Given the description of an element on the screen output the (x, y) to click on. 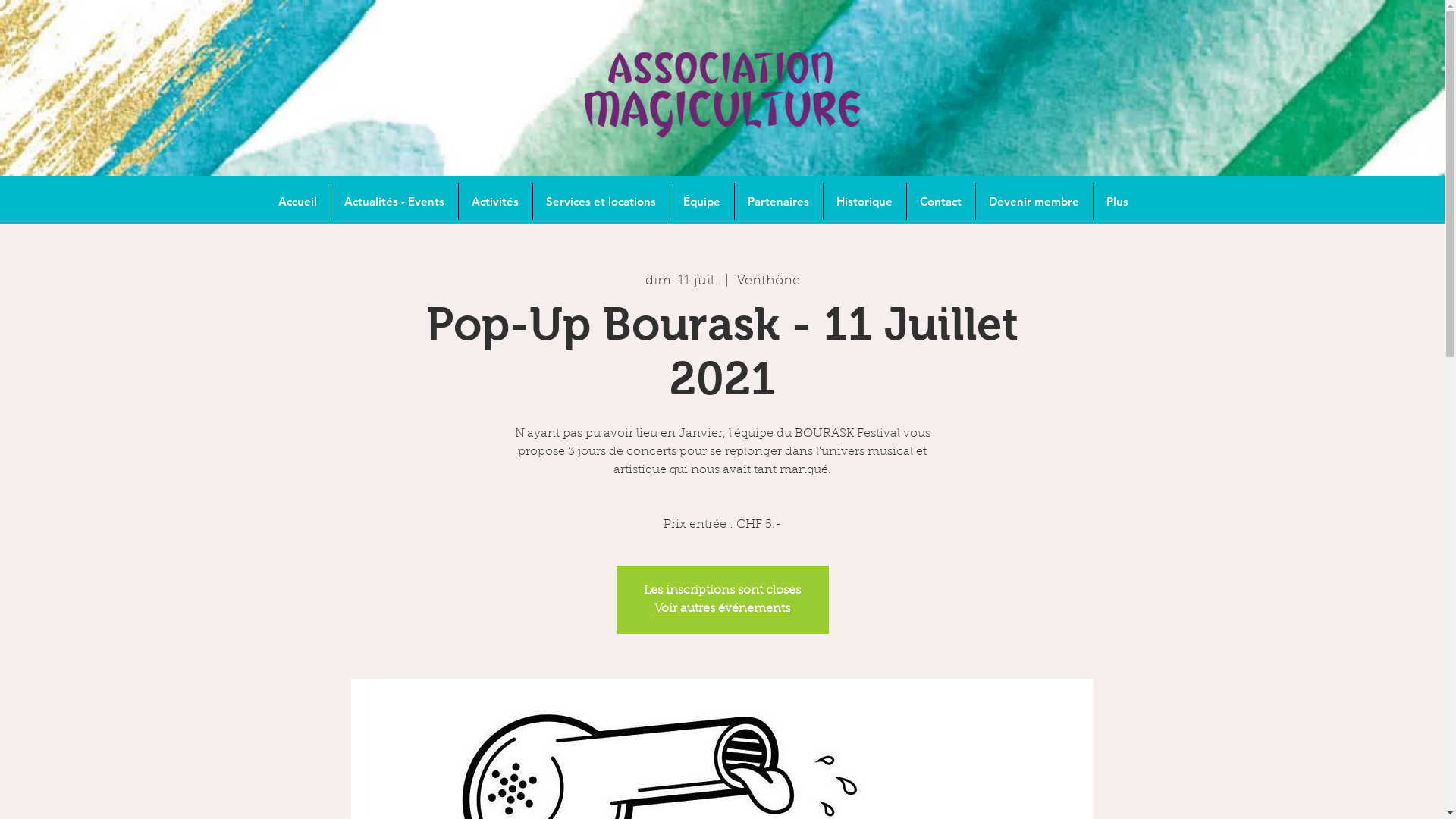
Partenaires Element type: text (778, 200)
Contact Element type: text (940, 200)
Devenir membre Element type: text (1033, 200)
Historique Element type: text (864, 200)
Services et locations Element type: text (600, 200)
Accueil Element type: text (297, 200)
